Given the description of an element on the screen output the (x, y) to click on. 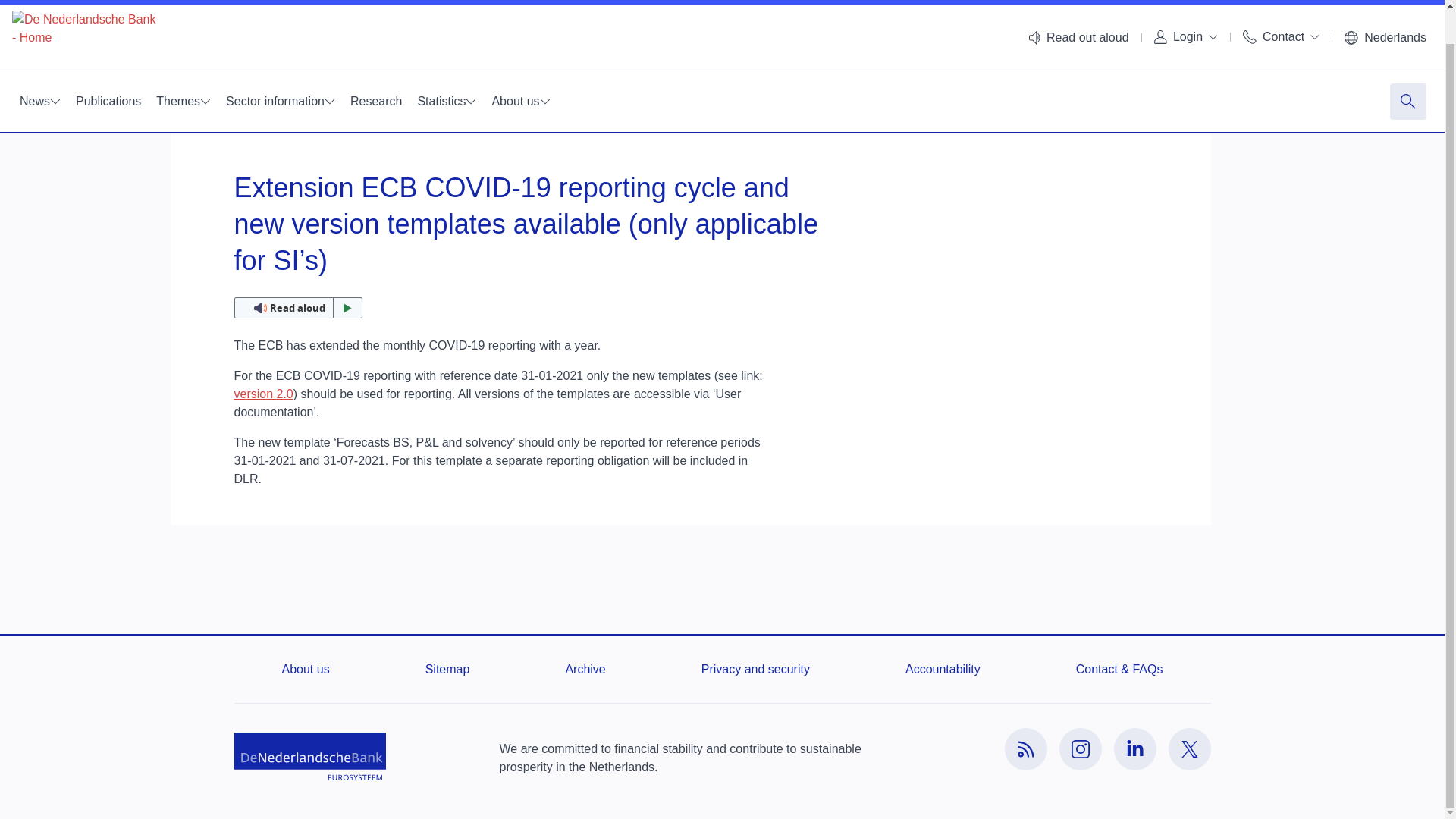
Visit our Instagram profile (1079, 749)
Sitemap (447, 669)
About us (306, 669)
Read out aloud (1078, 9)
News (39, 66)
Privacy and security (755, 669)
Publications (108, 66)
Login (1186, 7)
Nederlands (1385, 9)
De Nederlandsche Bank - Home (83, 14)
Read out aloud (296, 307)
Archive (584, 669)
Visit our Linkedin profile (1134, 749)
Themes (182, 66)
Visit our RSS-Feed (1025, 749)
